Given the description of an element on the screen output the (x, y) to click on. 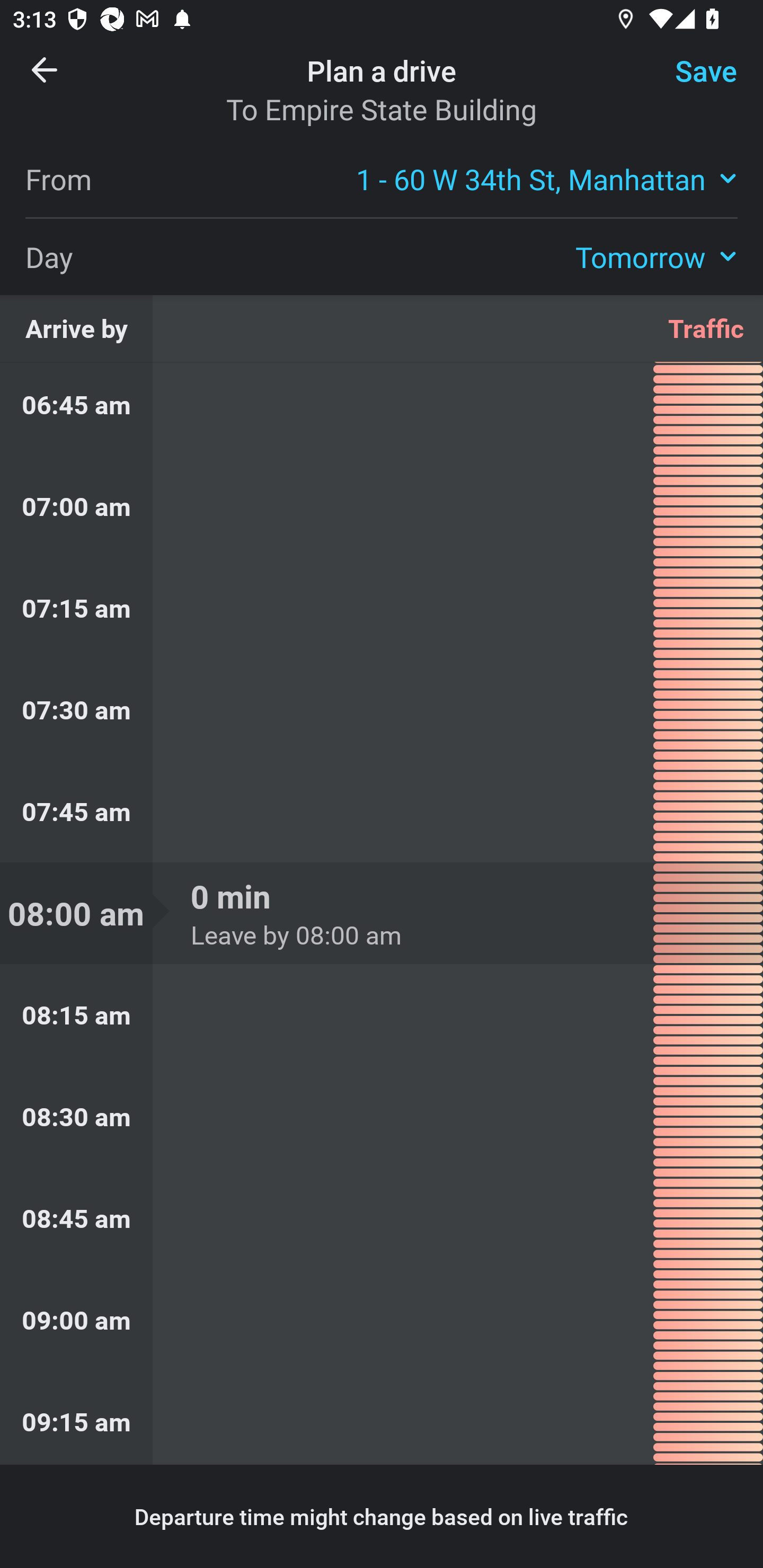
Settings (690, 82)
1 - 60 W 34th St, Manhattan (546, 178)
Tomorrow (656, 255)
06:45 am (381, 409)
07:00 am (381, 506)
07:15 am (381, 607)
07:30 am (381, 709)
07:45 am (381, 811)
08:00 am 0 min Leave by 08:00 am (381, 913)
08:15 am (381, 1015)
08:30 am (381, 1117)
08:45 am (381, 1218)
09:00 am (381, 1319)
09:15 am (381, 1417)
